Given the description of an element on the screen output the (x, y) to click on. 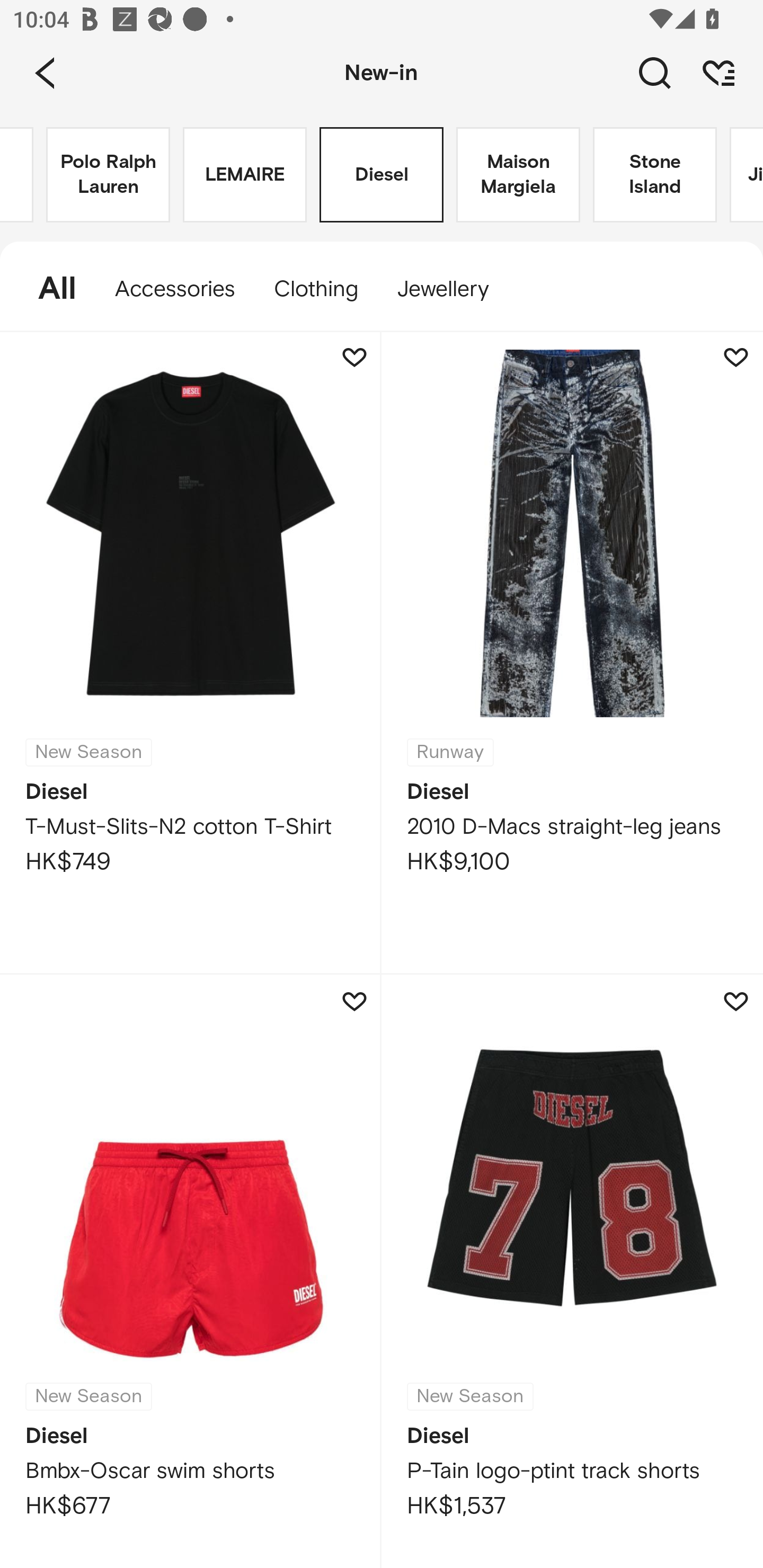
Polo Ralph Lauren (107, 174)
LEMAIRE (244, 174)
Diesel (381, 174)
Maison Margiela (517, 174)
Stone Island (654, 174)
All (47, 288)
Accessories (174, 288)
Clothing (315, 288)
Jewellery (451, 288)
New Season Diesel Bmbx-Oscar swim shorts HK$677 (190, 1271)
